Given the description of an element on the screen output the (x, y) to click on. 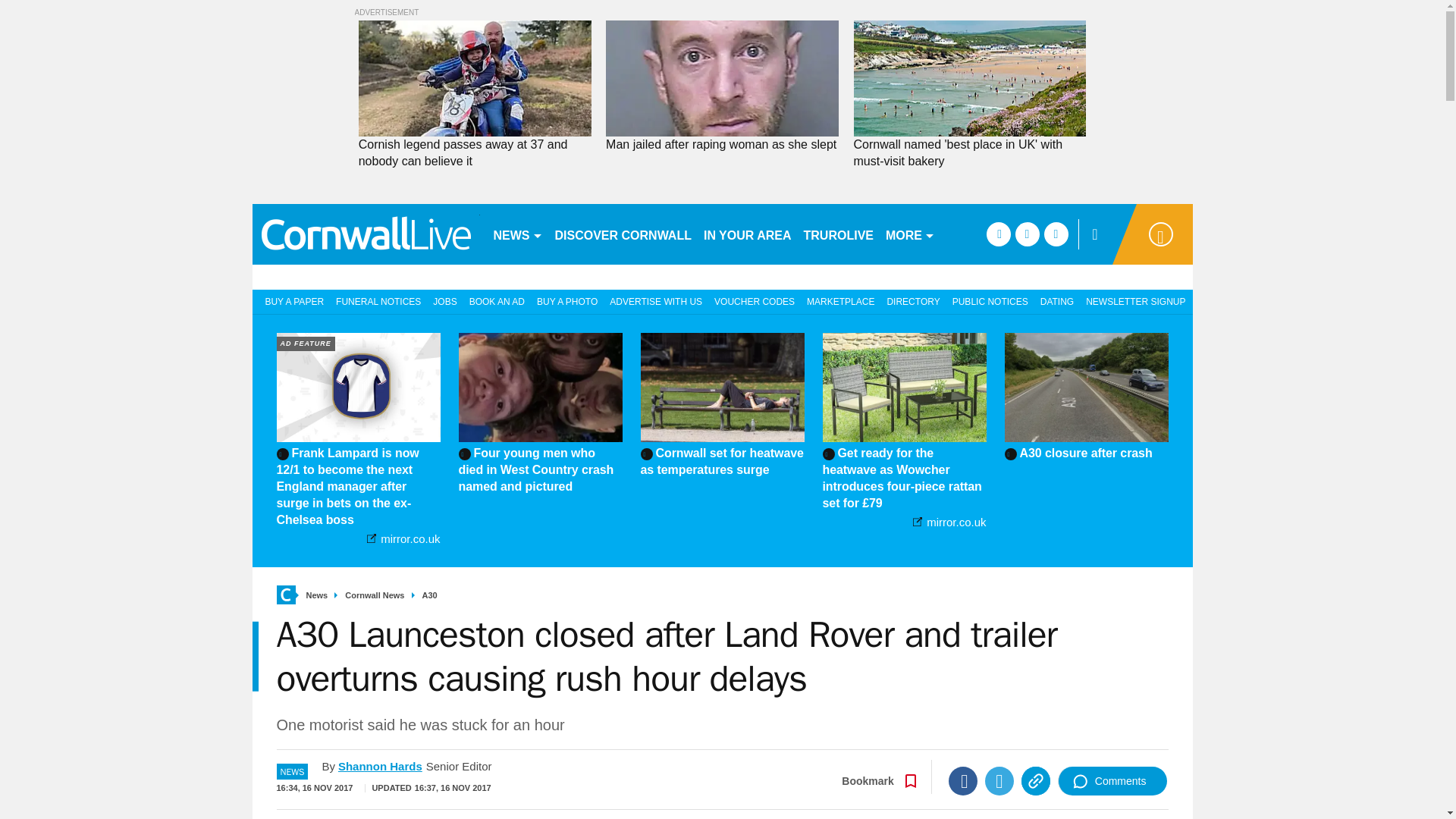
twitter (1026, 233)
DISCOVER CORNWALL (622, 233)
Cornish legend passes away at 37 and nobody can believe it (474, 152)
Cornwall named 'best place in UK' with must-visit bakery (969, 152)
Twitter (999, 780)
NEWS (517, 233)
Cornwall named 'best place in UK' with must-visit bakery (969, 152)
instagram (1055, 233)
facebook (997, 233)
IN YOUR AREA (747, 233)
Cornish legend passes away at 37 and nobody can believe it (474, 152)
MORE (909, 233)
Man jailed after raping woman as she slept (721, 144)
Man jailed after raping woman as she slept (721, 144)
Comments (1112, 780)
